Given the description of an element on the screen output the (x, y) to click on. 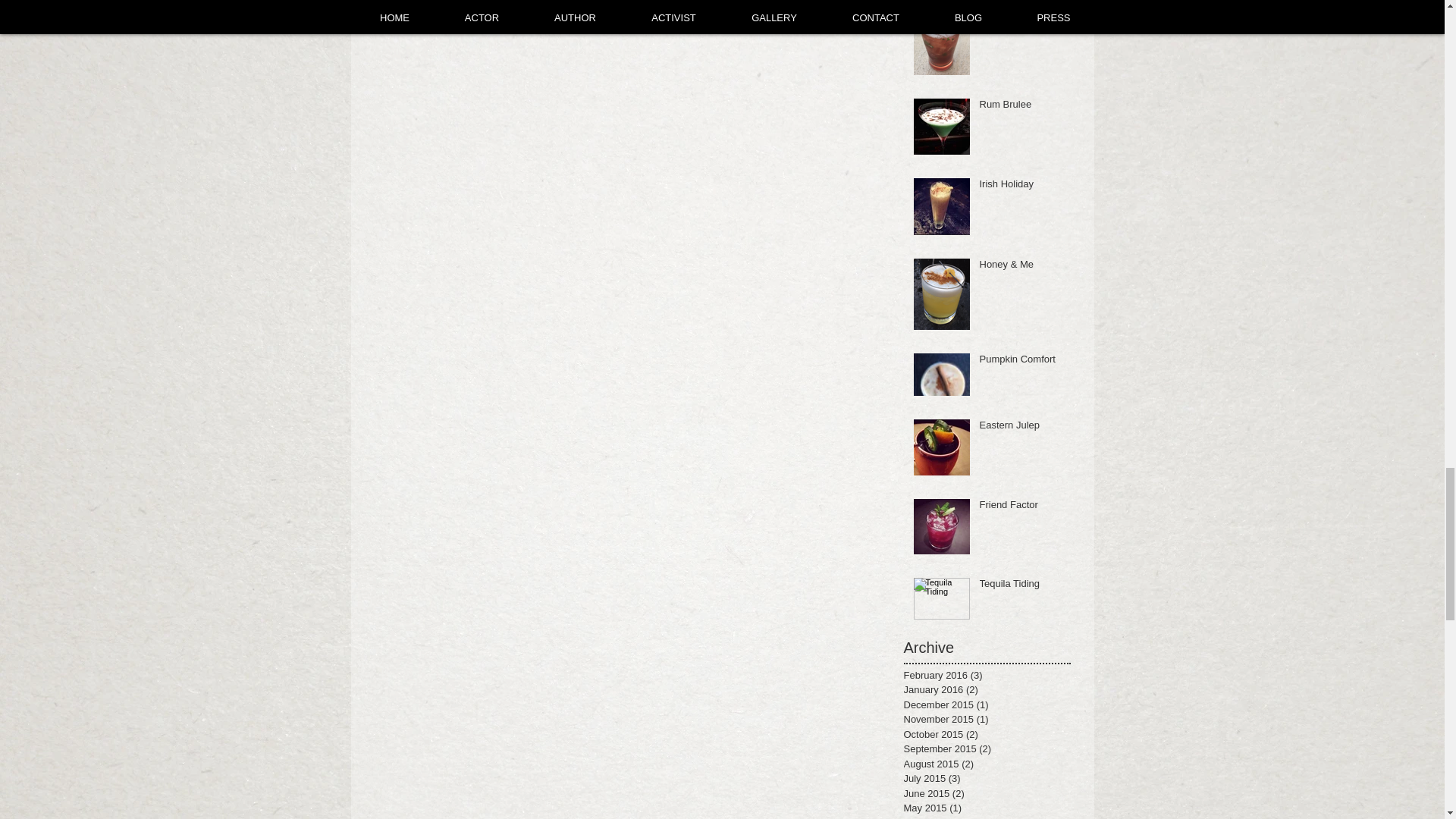
Friend Factor (1020, 507)
Tequila Tiding (1020, 587)
Eastern Julep (1020, 428)
Irish Holiday (1020, 187)
Blackcurrant Fresca (1020, 14)
Pumpkin Comfort (1020, 362)
Rum Brulee (1020, 107)
